Given the description of an element on the screen output the (x, y) to click on. 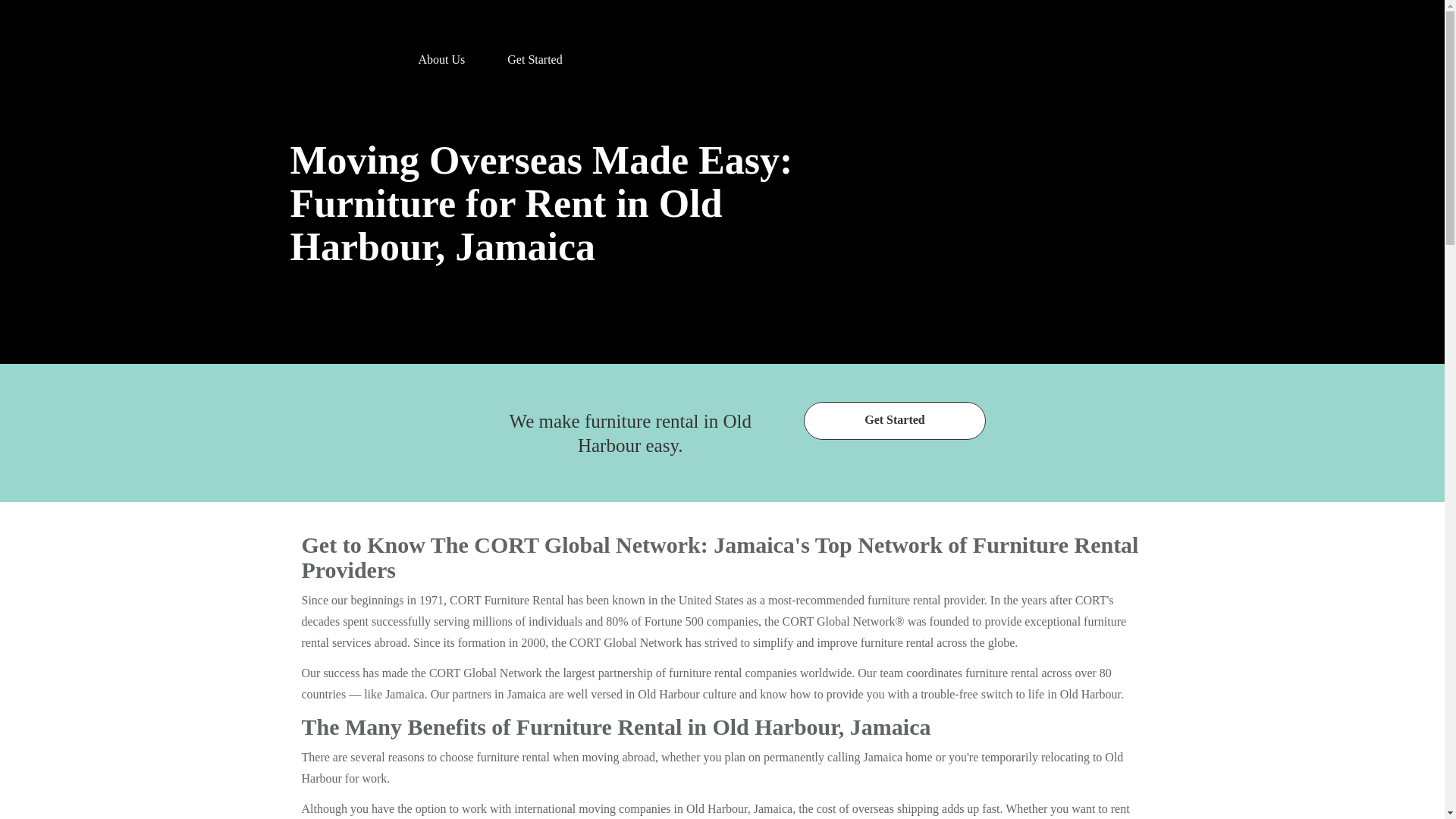
About Us (441, 53)
Get Started (534, 53)
CORT Global (337, 53)
Get Started (894, 420)
